Given the description of an element on the screen output the (x, y) to click on. 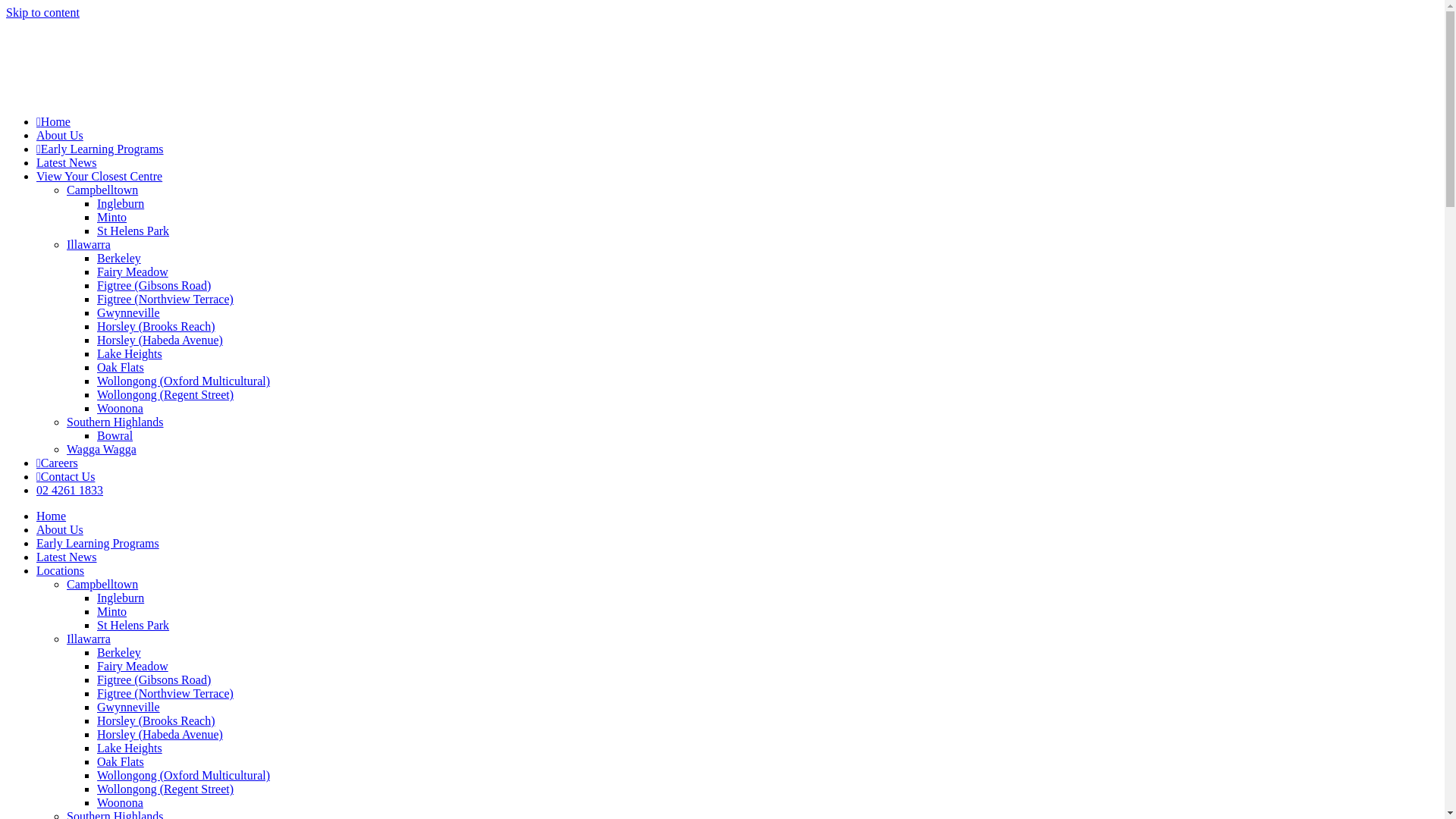
Wollongong (Regent Street) Element type: text (165, 394)
Home Element type: text (50, 515)
Locations Element type: text (60, 570)
Figtree (Northview Terrace) Element type: text (165, 298)
Oak Flats Element type: text (120, 761)
Campbelltown Element type: text (102, 583)
Illawarra Element type: text (88, 244)
Wollongong (Regent Street) Element type: text (165, 788)
Home Element type: text (53, 121)
Gwynneville Element type: text (128, 312)
Skip to content Element type: text (42, 12)
About Us Element type: text (59, 529)
Figtree (Gibsons Road) Element type: text (153, 285)
Fairy Meadow Element type: text (132, 271)
Berkeley Element type: text (119, 257)
Oak Flats Element type: text (120, 366)
Minto Element type: text (111, 611)
Wagga Wagga Element type: text (101, 448)
Careers Element type: text (57, 462)
Ingleburn Element type: text (120, 597)
Early Learning Programs Element type: text (99, 148)
Lake Heights Element type: text (129, 747)
Berkeley Element type: text (119, 652)
View Your Closest Centre Element type: text (99, 175)
Horsley (Brooks Reach) Element type: text (156, 720)
Southern Highlands Element type: text (114, 421)
Horsley (Habeda Avenue) Element type: text (159, 339)
02 4261 1833 Element type: text (69, 489)
Figtree (Northview Terrace) Element type: text (165, 693)
Woonona Element type: text (120, 407)
Contact Us Element type: text (65, 476)
Figtree (Gibsons Road) Element type: text (153, 679)
Minto Element type: text (111, 216)
Woonona Element type: text (120, 802)
Horsley (Brooks Reach) Element type: text (156, 326)
Fairy Meadow Element type: text (132, 665)
Horsley (Habeda Avenue) Element type: text (159, 734)
Gwynneville Element type: text (128, 706)
St Helens Park Element type: text (133, 624)
Bowral Element type: text (114, 435)
Lake Heights Element type: text (129, 353)
St Helens Park Element type: text (133, 230)
Latest News Element type: text (66, 162)
Illawarra Element type: text (88, 638)
Early Learning Programs Element type: text (97, 542)
Ingleburn Element type: text (120, 203)
Campbelltown Element type: text (102, 189)
Latest News Element type: text (66, 556)
About Us Element type: text (59, 134)
Wollongong (Oxford Multicultural) Element type: text (183, 380)
Wollongong (Oxford Multicultural) Element type: text (183, 774)
